Given the description of an element on the screen output the (x, y) to click on. 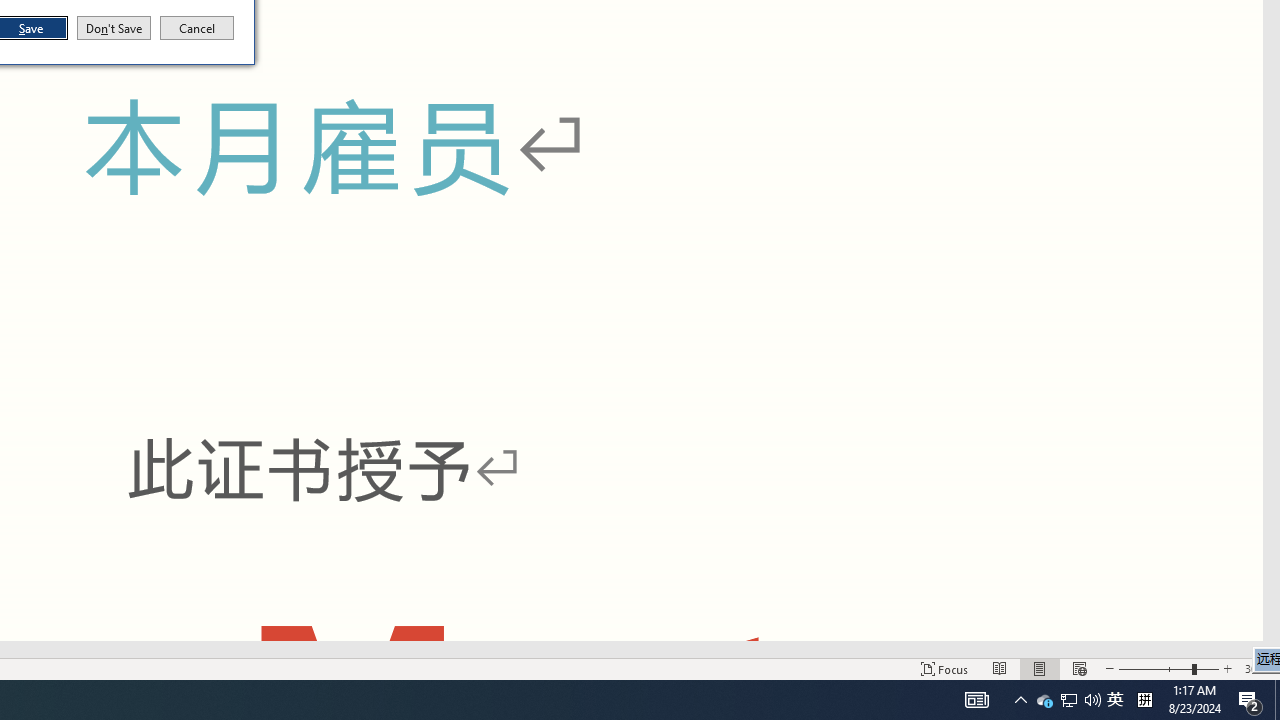
Q2790: 100% (1092, 699)
User Promoted Notification Area (1068, 699)
Tray Input Indicator - Chinese (Simplified, China) (1144, 699)
Action Center, 2 new notifications (1250, 699)
Show desktop (1277, 699)
